Given the description of an element on the screen output the (x, y) to click on. 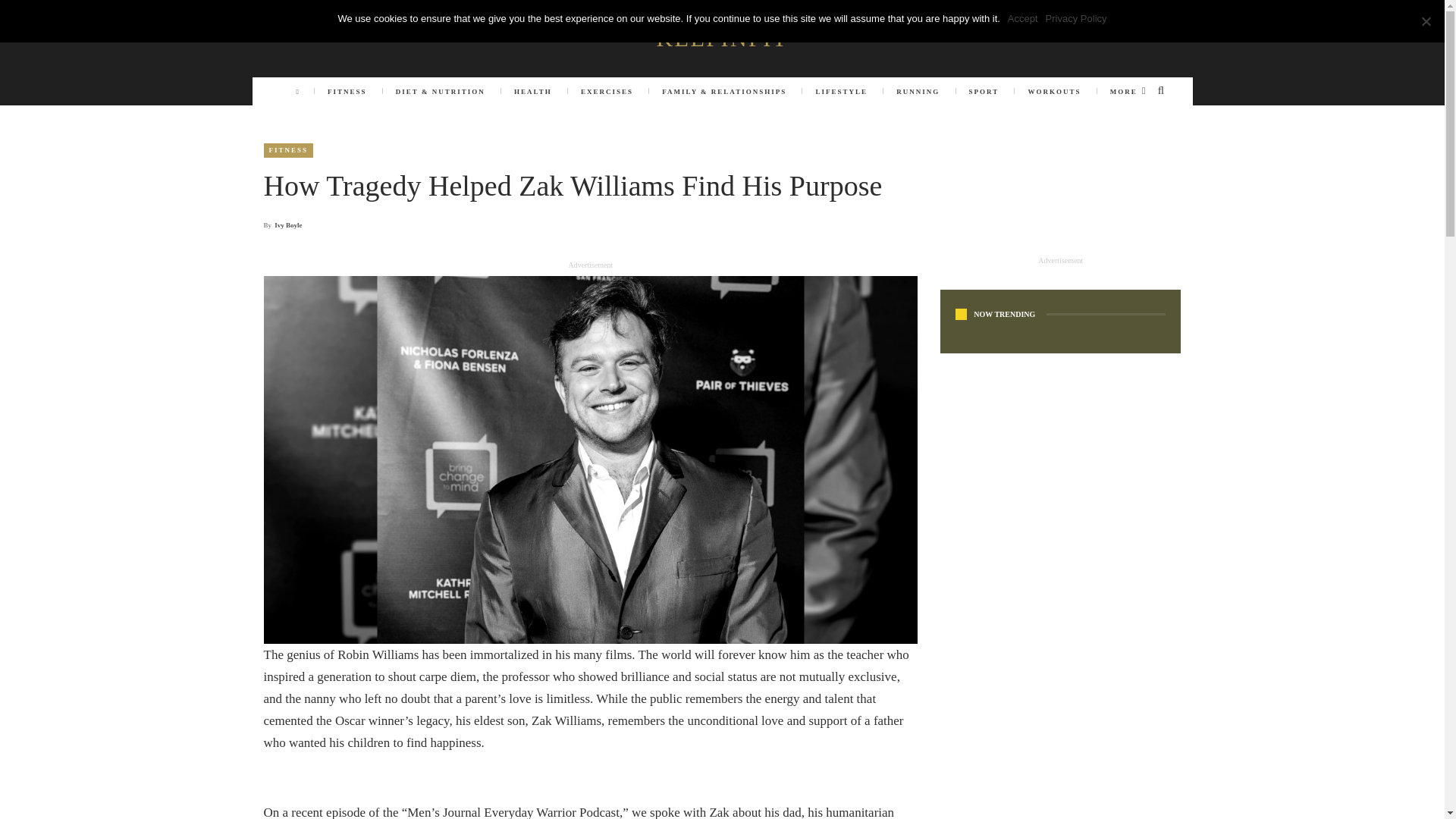
KEEPINFIT (721, 37)
SPORT (983, 91)
HEALTH (532, 91)
RUNNING (917, 91)
EXERCISES (606, 91)
LIFESTYLE (841, 91)
FITNESS (288, 150)
Browse Author Articles (282, 224)
By Ivy Boyle (282, 224)
MORE (1128, 91)
FITNESS (347, 91)
WORKOUTS (1053, 91)
